Given the description of an element on the screen output the (x, y) to click on. 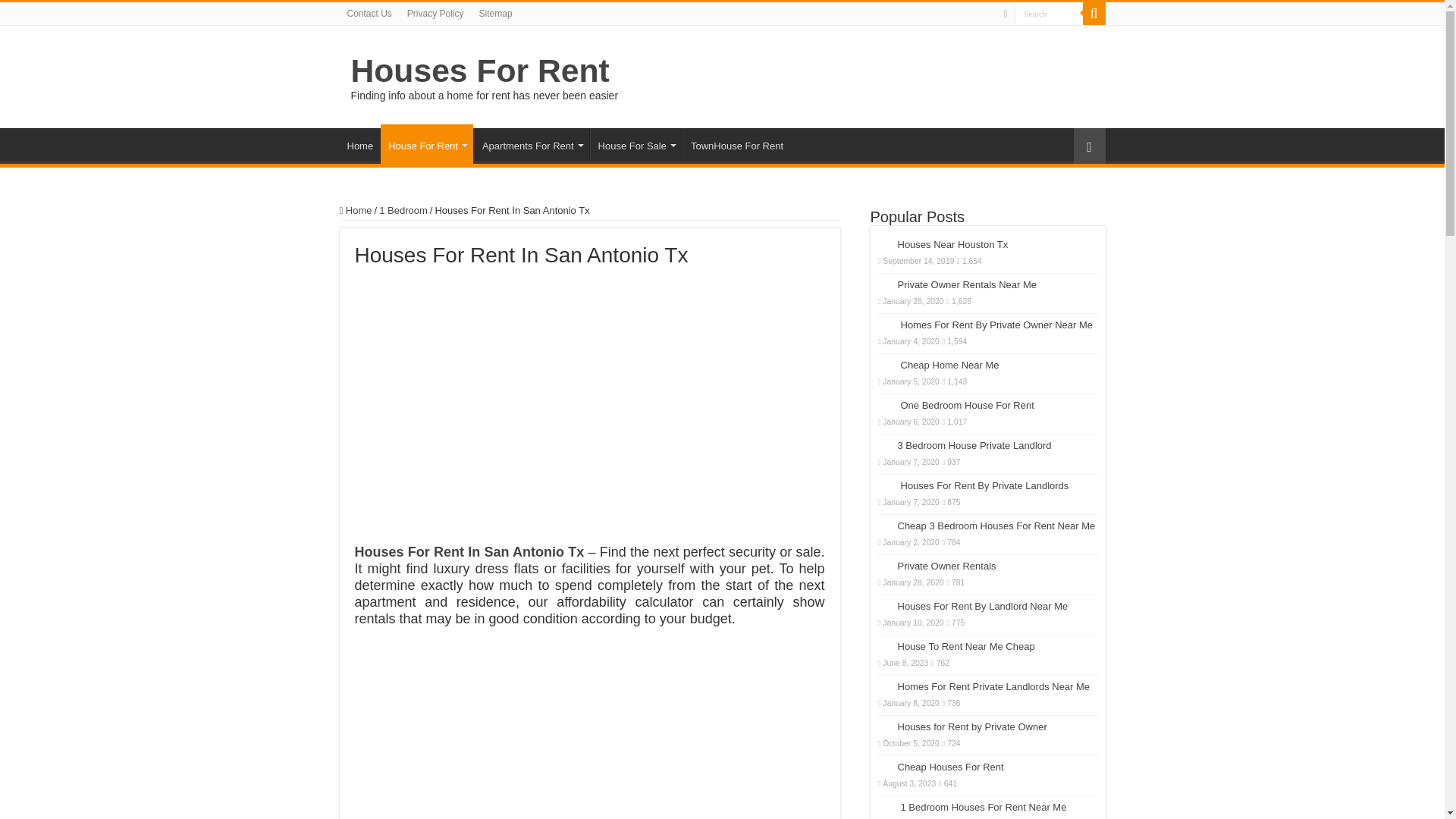
Sitemap (495, 13)
Privacy Policy (434, 13)
Search (1048, 13)
Houses For Rent (479, 70)
Search (1094, 13)
House For Sale (635, 143)
Contact Us (368, 13)
Apartments For Rent (531, 143)
Search (1048, 13)
Search (1048, 13)
TownHouse For Rent (736, 143)
House For Rent (426, 143)
1 Bedroom (403, 210)
Houses For Rent In San Antonio Tx (470, 551)
Home (355, 210)
